Given the description of an element on the screen output the (x, y) to click on. 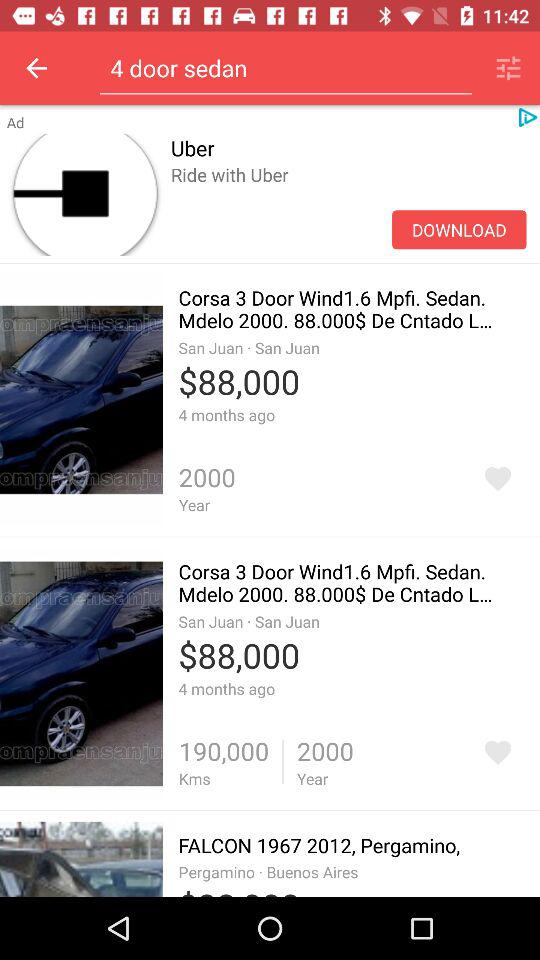
favorite item (497, 478)
